Given the description of an element on the screen output the (x, y) to click on. 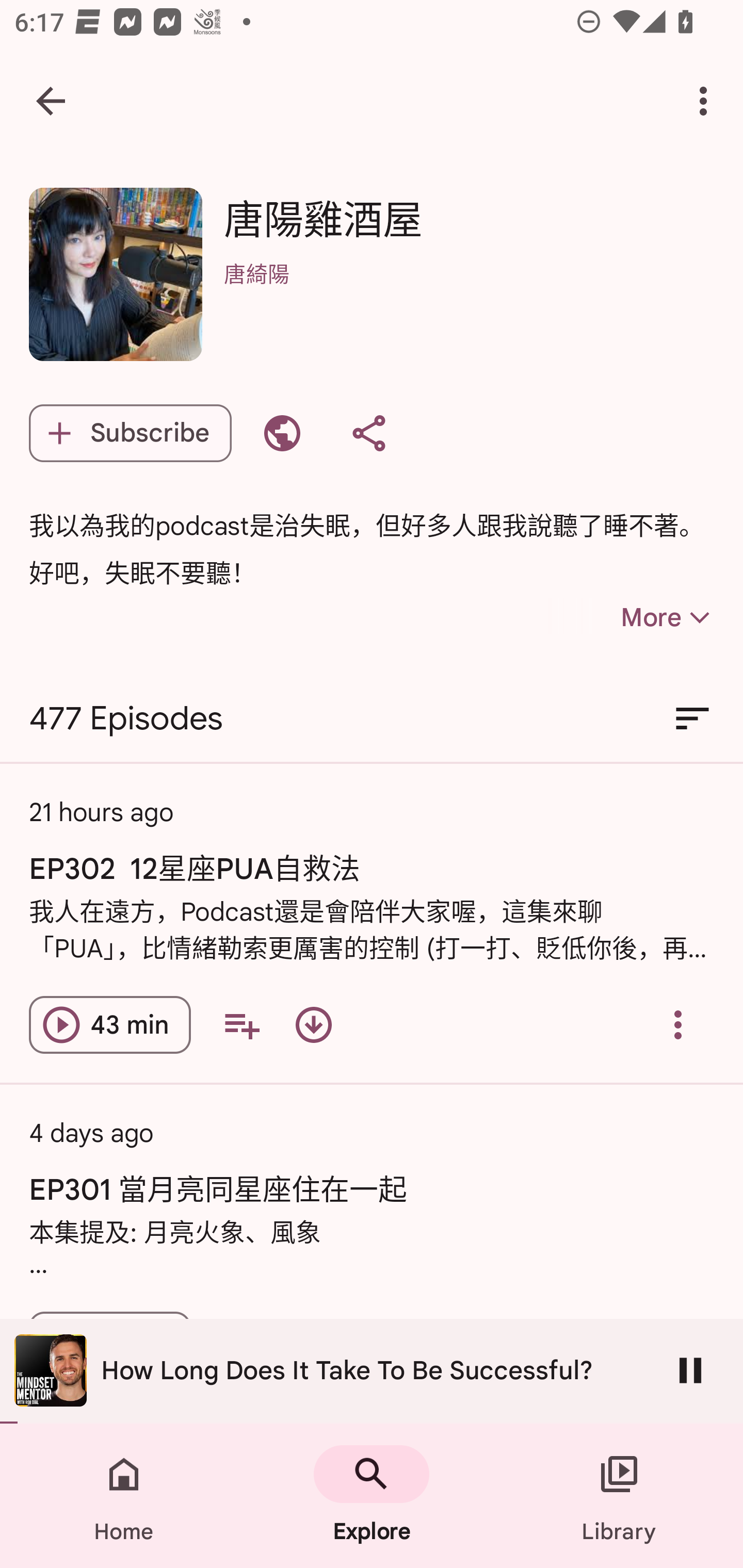
Navigate up (50, 101)
More options (706, 101)
唐綺陽 (468, 300)
Subscribe (129, 433)
Visit website (282, 433)
Share (368, 433)
More (631, 616)
Sort (692, 718)
Play episode EP302  12星座PUA自救法 43 min (109, 1024)
Add to your queue (241, 1024)
Download episode (313, 1024)
Overflow menu (677, 1024)
Pause (690, 1370)
Home (123, 1495)
Library (619, 1495)
